Given the description of an element on the screen output the (x, y) to click on. 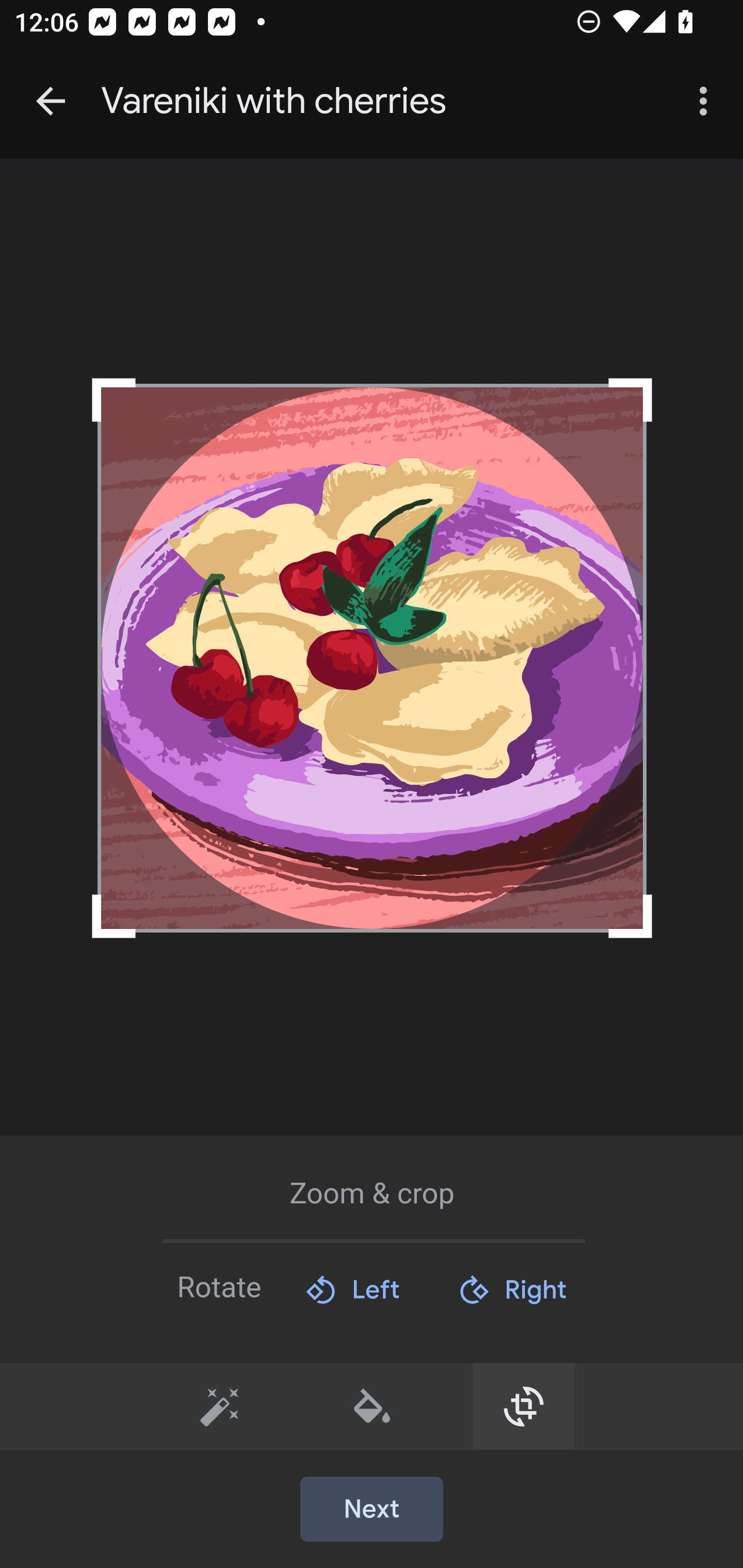
Navigate up (50, 101)
More options (706, 101)
Rotate left (352, 1289)
Rotate right (511, 1289)
Presets (220, 1406)
Colorize (372, 1406)
Crop (523, 1406)
Next (371, 1509)
